Given the description of an element on the screen output the (x, y) to click on. 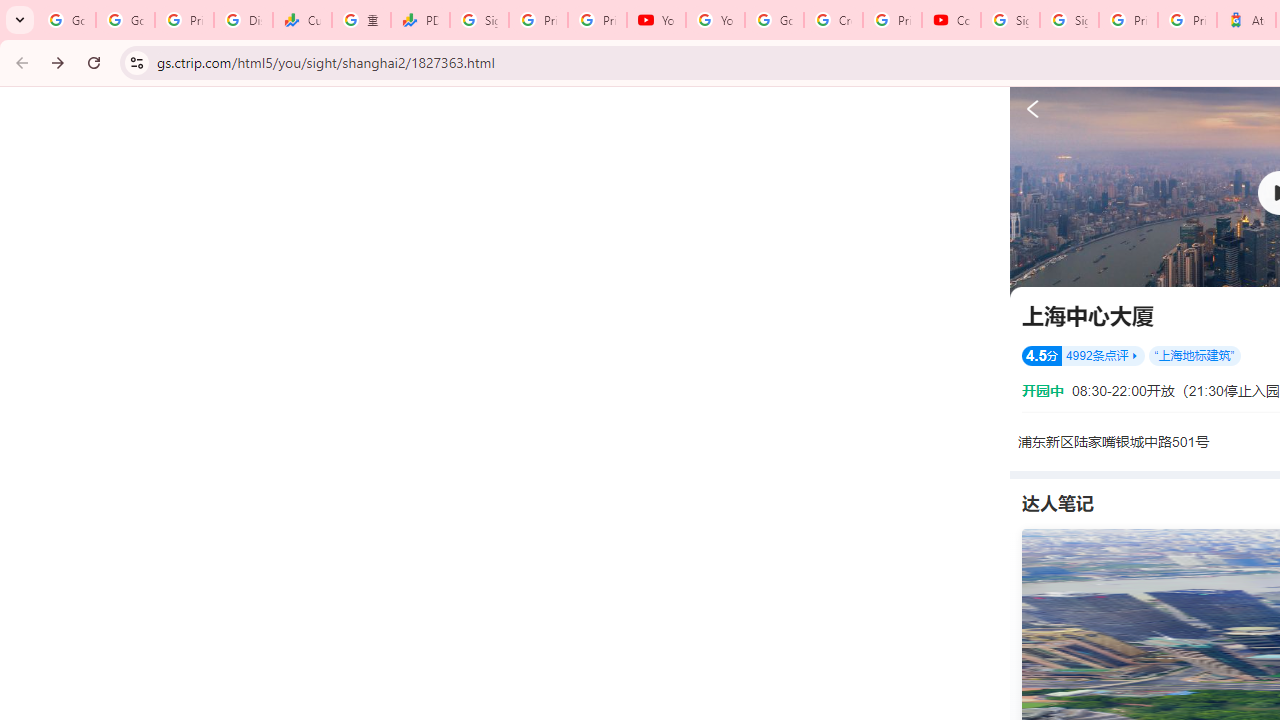
Privacy Checkup (597, 20)
YouTube (715, 20)
Google Workspace Admin Community (66, 20)
Google Account Help (774, 20)
PDD Holdings Inc - ADR (PDD) Price & News - Google Finance (420, 20)
YouTube (656, 20)
